Given the description of an element on the screen output the (x, y) to click on. 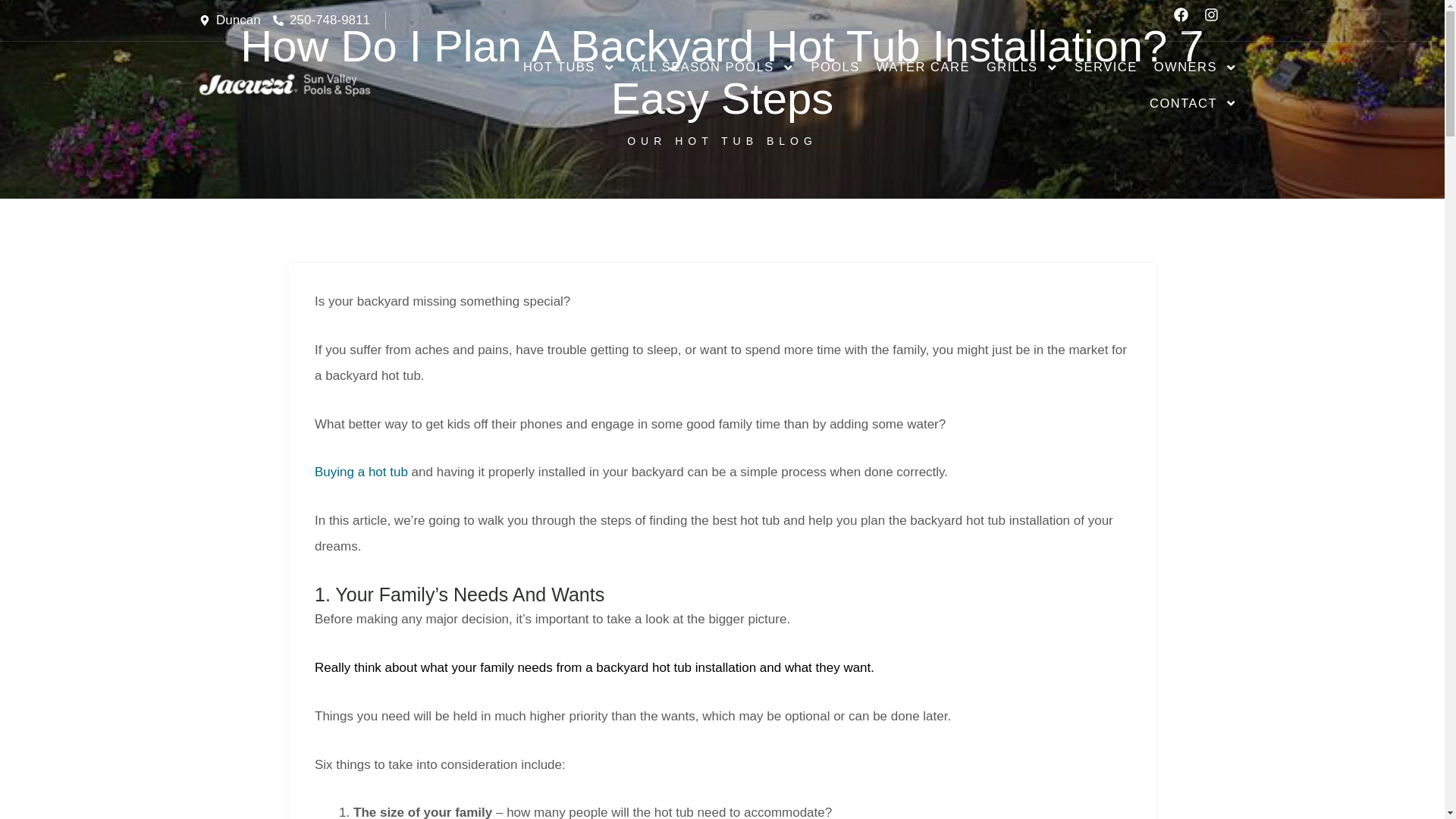
250-748-9811 (321, 20)
GRILLS (1021, 67)
WATER CARE (922, 67)
CONTACT (1193, 103)
Facebook (1186, 20)
OWNERS (1195, 67)
ALL SEASON POOLS (712, 67)
SERVICE (1105, 67)
POOLS (834, 67)
logo (283, 85)
Duncan (229, 20)
HOT TUBS (569, 67)
Instagram (1217, 20)
